Given the description of an element on the screen output the (x, y) to click on. 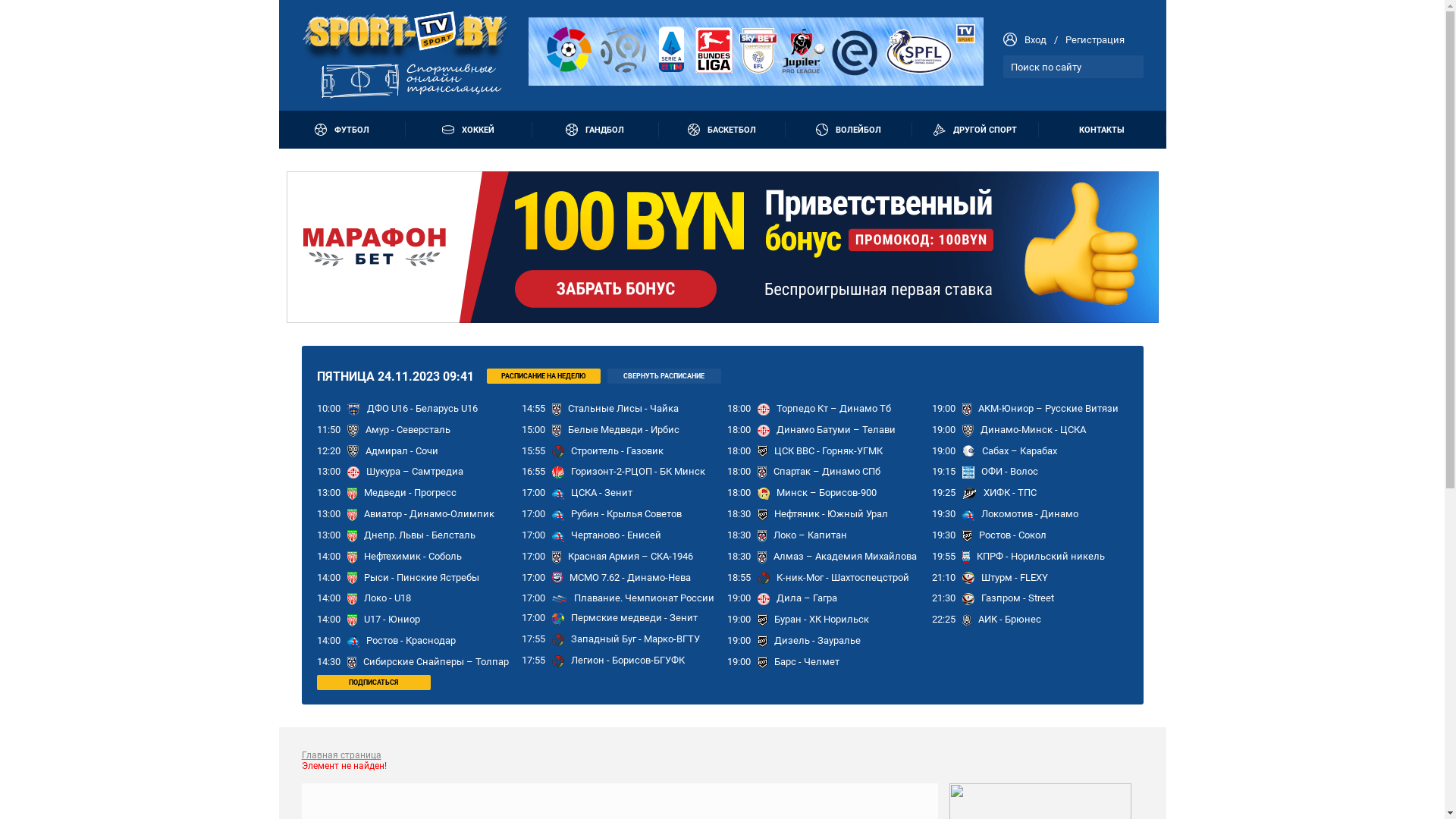
15:00 Element type: text (533, 429)
18:00 Element type: text (737, 429)
11:50 Element type: text (328, 429)
12:20 Element type: text (328, 450)
18:30 Element type: text (737, 555)
17:00 Element type: text (533, 513)
19:00 Element type: text (737, 640)
16:55 Element type: text (533, 470)
18:30 Element type: text (737, 534)
17:00 Element type: text (533, 555)
19:55 Element type: text (943, 555)
19:25 Element type: text (943, 492)
17:55 Element type: text (533, 659)
17:00 Element type: text (533, 577)
17:00 Element type: text (533, 617)
19:00 Element type: text (737, 618)
21:30 Element type: text (943, 597)
17:00 Element type: text (533, 597)
18:00 Element type: text (737, 470)
18:00 Element type: text (737, 492)
14:00 Element type: text (328, 555)
19:00 Element type: text (737, 597)
18:00 Element type: text (737, 450)
17:55 Element type: text (533, 638)
14:00 Element type: text (328, 597)
19:15 Element type: text (943, 470)
18:30 Element type: text (737, 513)
13:00 Element type: text (328, 470)
17:00 Element type: text (533, 534)
22:25 Element type: text (943, 618)
14:00 Element type: text (328, 640)
19:00 Element type: text (943, 450)
15:55 Element type: text (533, 450)
19:00 Element type: text (943, 408)
14:00 Element type: text (328, 577)
13:00 Element type: text (328, 534)
14:30 Element type: text (328, 661)
21:10 Element type: text (943, 577)
19:00 Element type: text (943, 429)
14:00 Element type: text (328, 618)
19:30 Element type: text (943, 513)
17:00 Element type: text (533, 492)
18:00 Element type: text (737, 408)
18:55 Element type: text (737, 577)
19:00 Element type: text (737, 661)
13:00 Element type: text (328, 492)
14:55 Element type: text (533, 408)
19:30 Element type: text (943, 534)
10:00 Element type: text (328, 408)
13:00 Element type: text (328, 513)
